Given the description of an element on the screen output the (x, y) to click on. 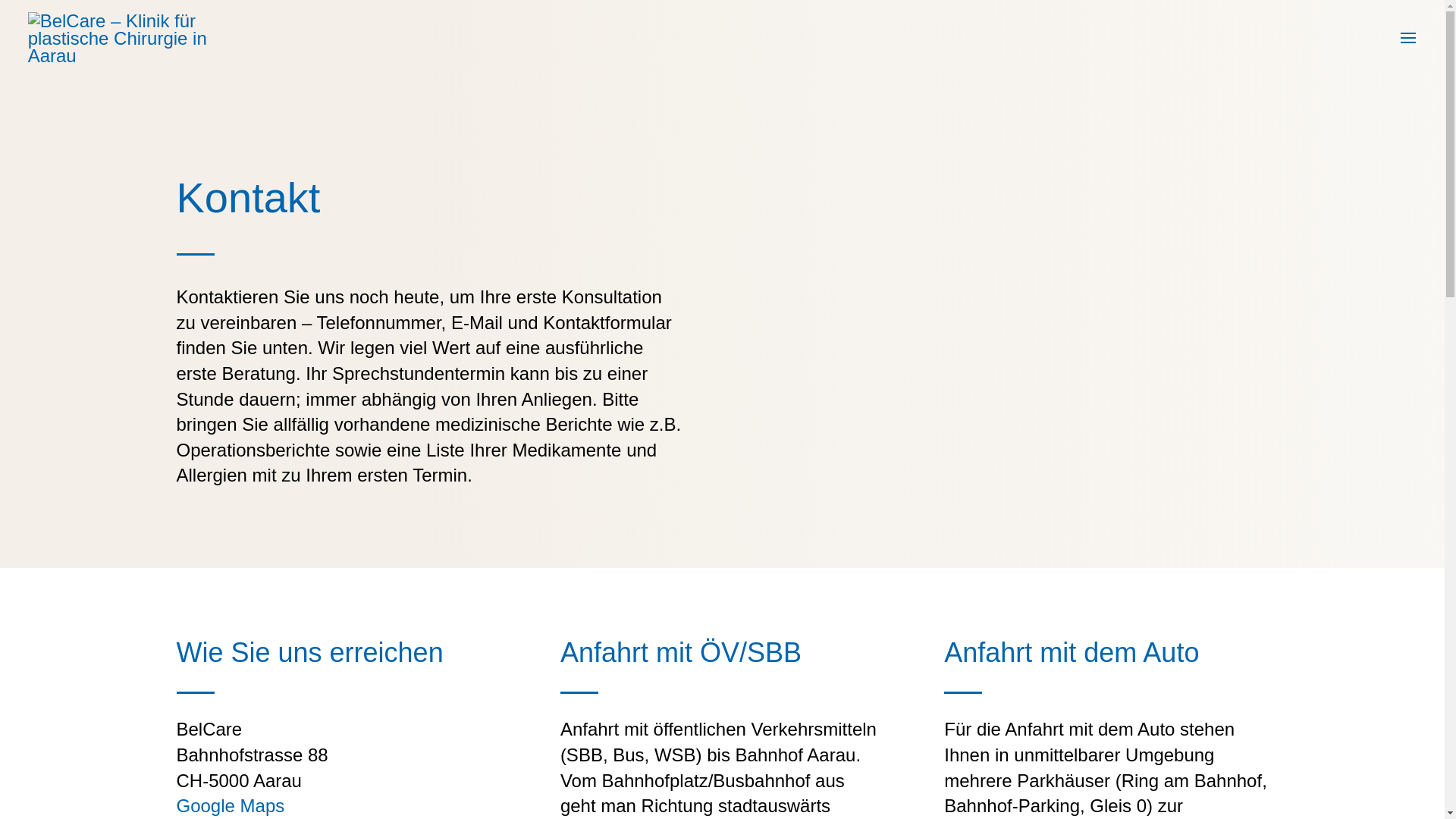
Google Maps Element type: text (229, 805)
